Given the description of an element on the screen output the (x, y) to click on. 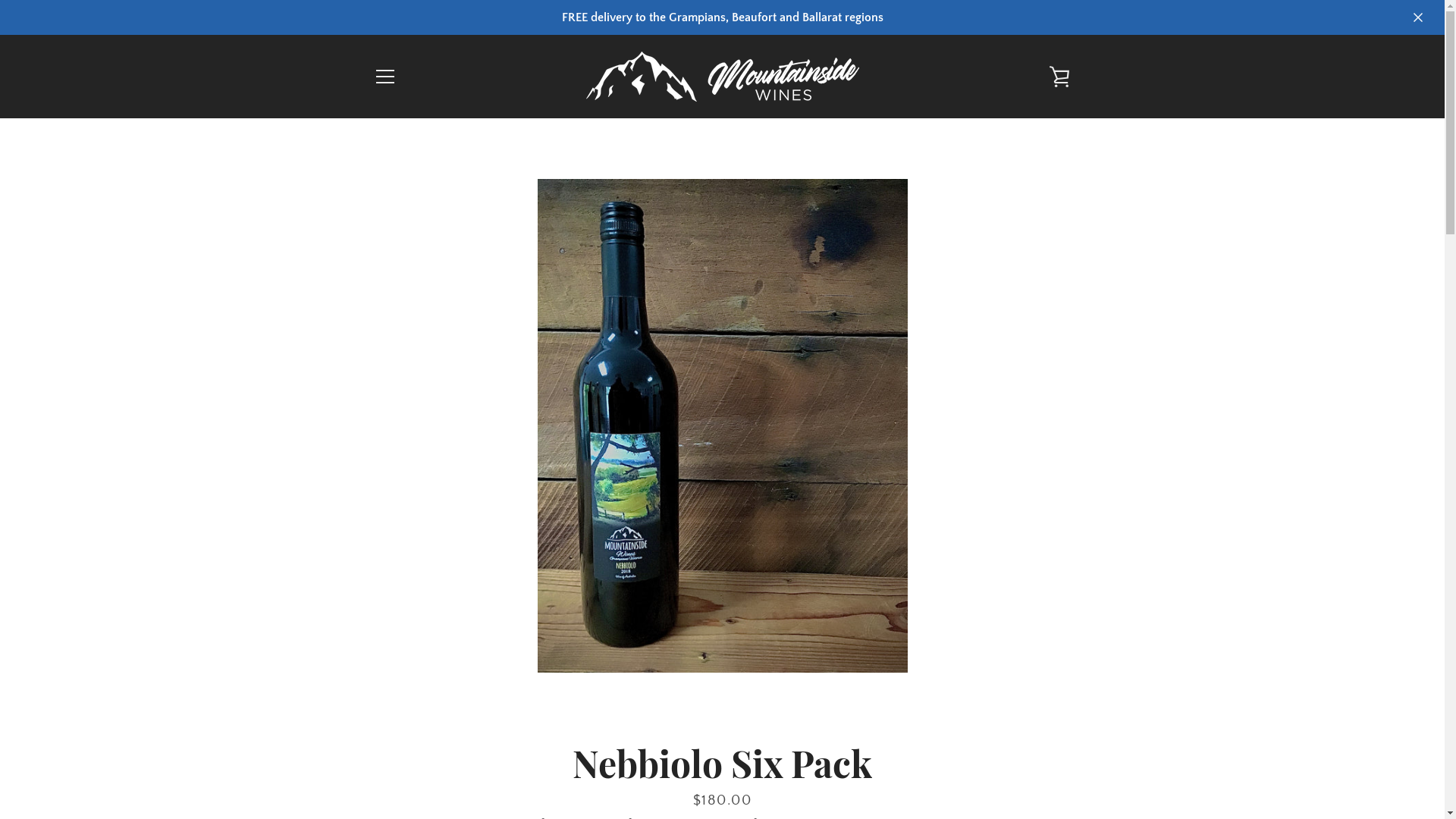
TOURS & EXPERIENCES Element type: text (434, 616)
GETTING HERE Element type: text (411, 667)
Facebook Element type: text (372, 776)
VIEW CART Element type: text (1059, 76)
Mountainside Wines Element type: text (767, 777)
Skip to content Element type: text (0, 0)
REGIONAL ATTRACTIONS Element type: text (440, 641)
SUBSCRIBE Element type: text (1027, 671)
Instagram Element type: text (399, 776)
REFUND POLICY Element type: text (415, 717)
SEARCH Element type: text (394, 590)
MENU Element type: text (384, 76)
TERMS OF SERVICE Element type: text (423, 692)
